Given the description of an element on the screen output the (x, y) to click on. 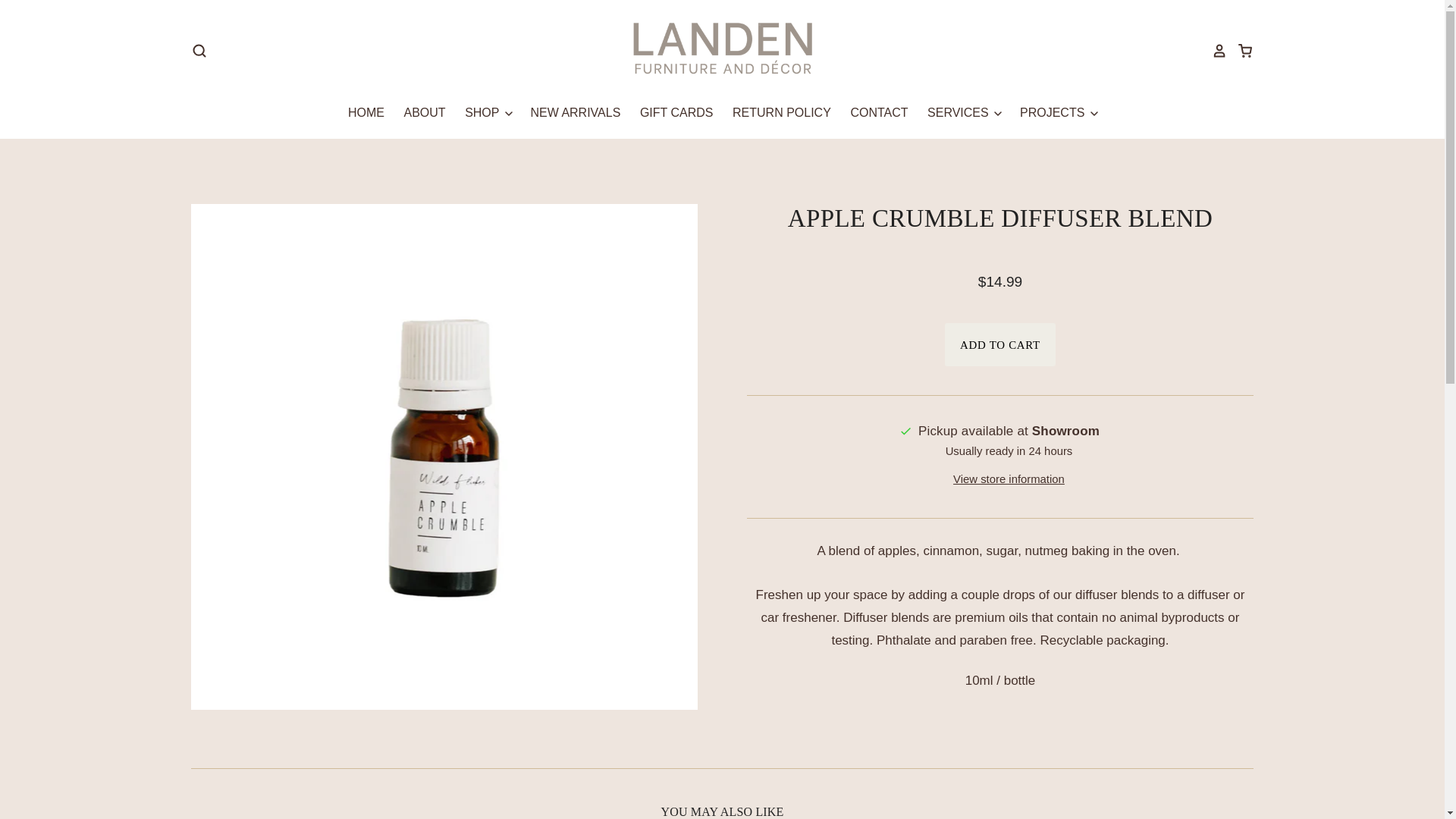
Add to cart (999, 344)
